Given the description of an element on the screen output the (x, y) to click on. 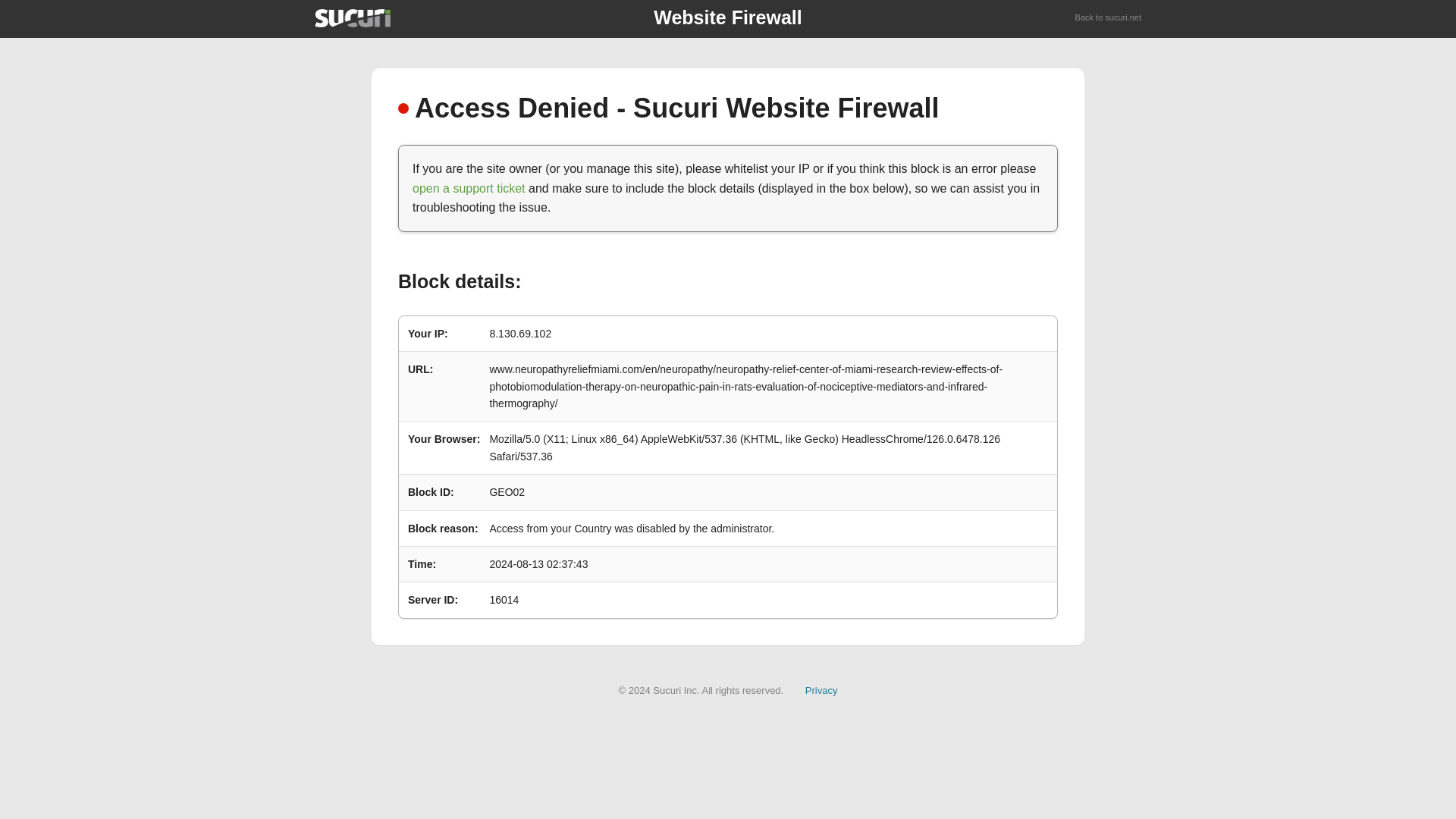
Privacy (821, 690)
Back to sucuri.net (1108, 18)
open a support ticket (468, 187)
